Given the description of an element on the screen output the (x, y) to click on. 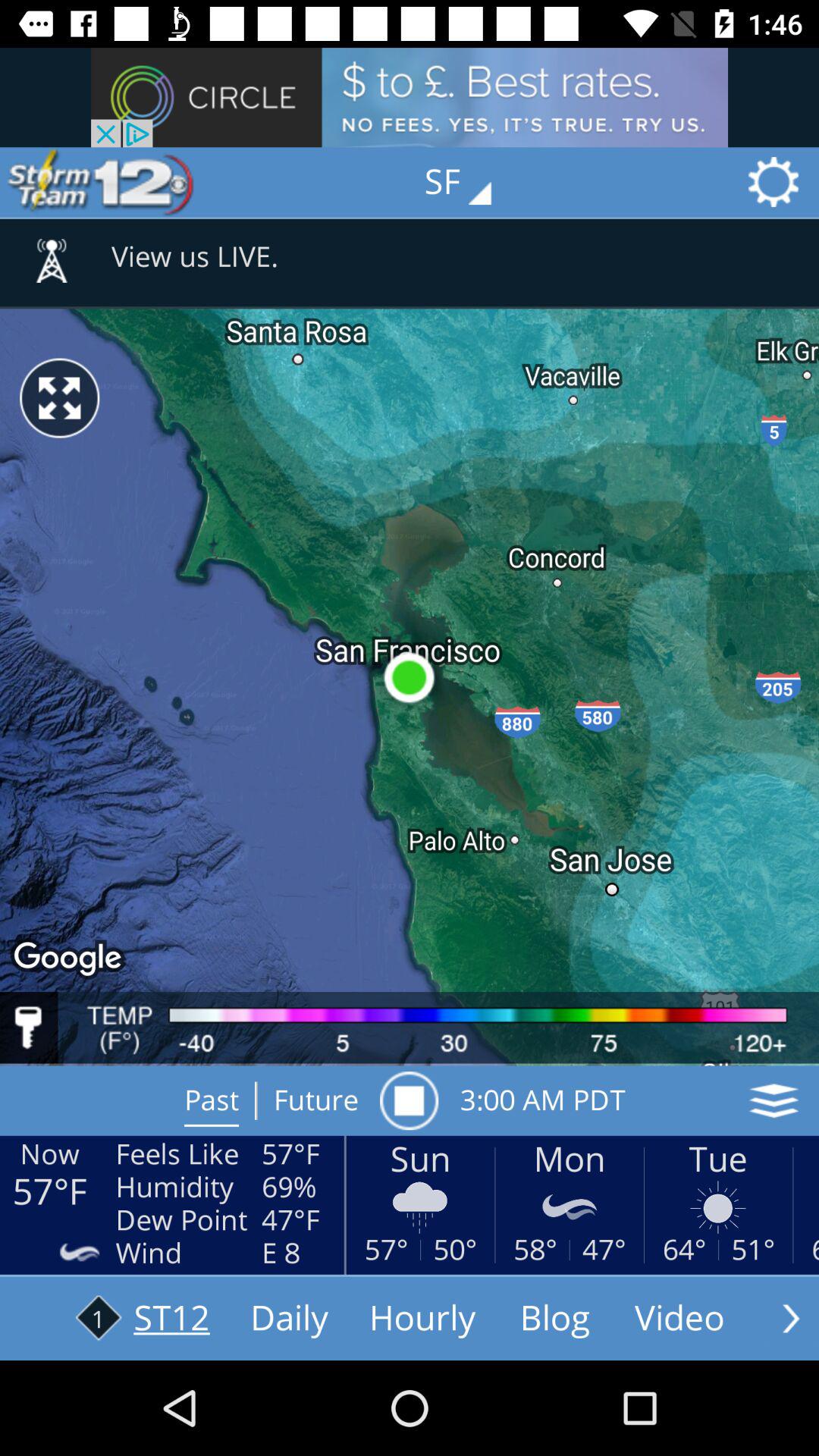
tap the item to the right of future icon (409, 1100)
